Given the description of an element on the screen output the (x, y) to click on. 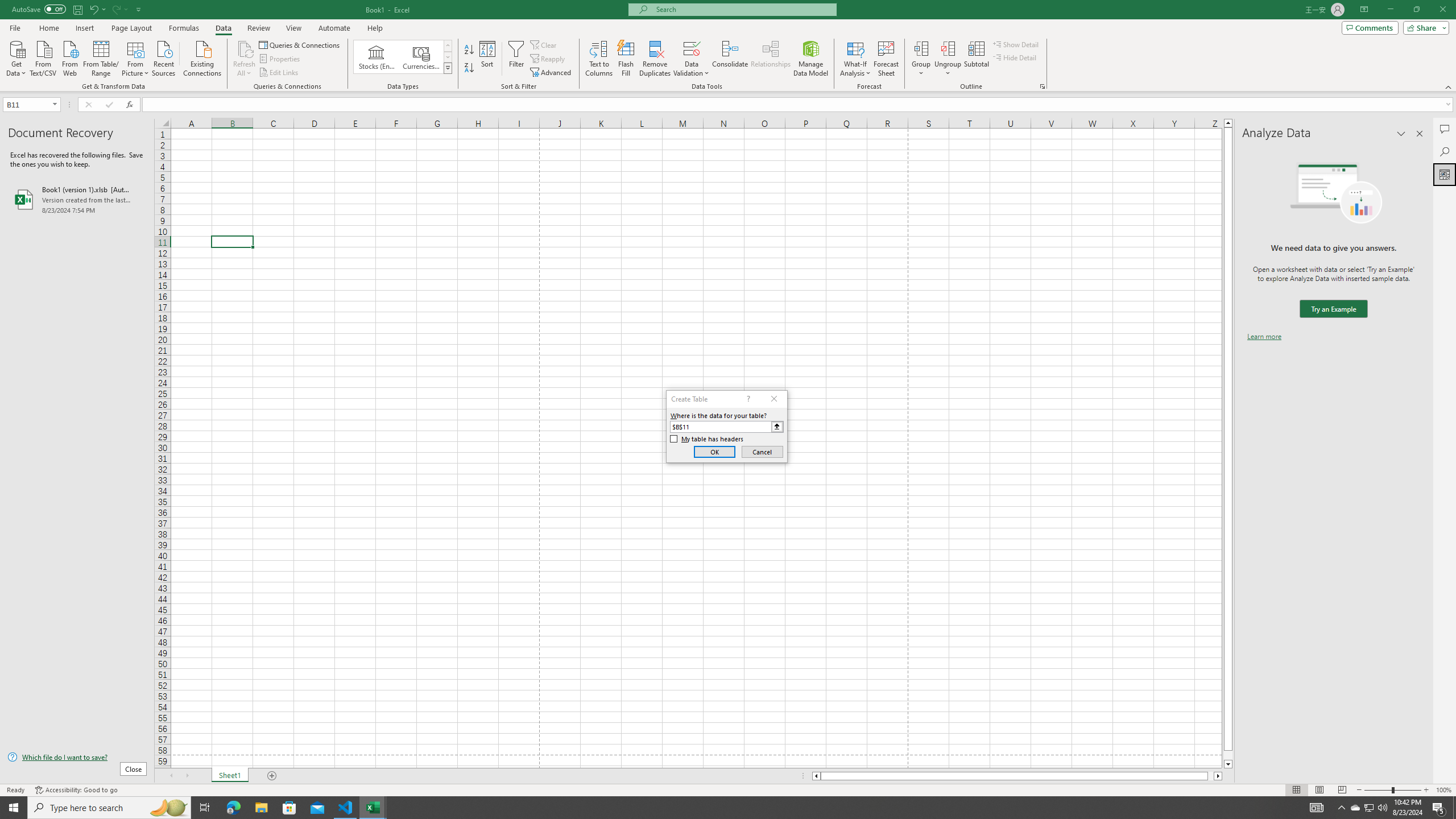
Ribbon Display Options (1364, 9)
Page Break Preview (1342, 790)
Row Down (448, 56)
Zoom In (1426, 790)
What-If Analysis (855, 58)
Class: NetUIScrollBar (1016, 775)
Normal (1296, 790)
Add Sheet (272, 775)
Customize Quick Access Toolbar (139, 9)
File Tab (15, 27)
Redo (115, 9)
Sort... (487, 58)
Properties (280, 58)
Task Pane Options (1400, 133)
Search (1444, 151)
